Given the description of an element on the screen output the (x, y) to click on. 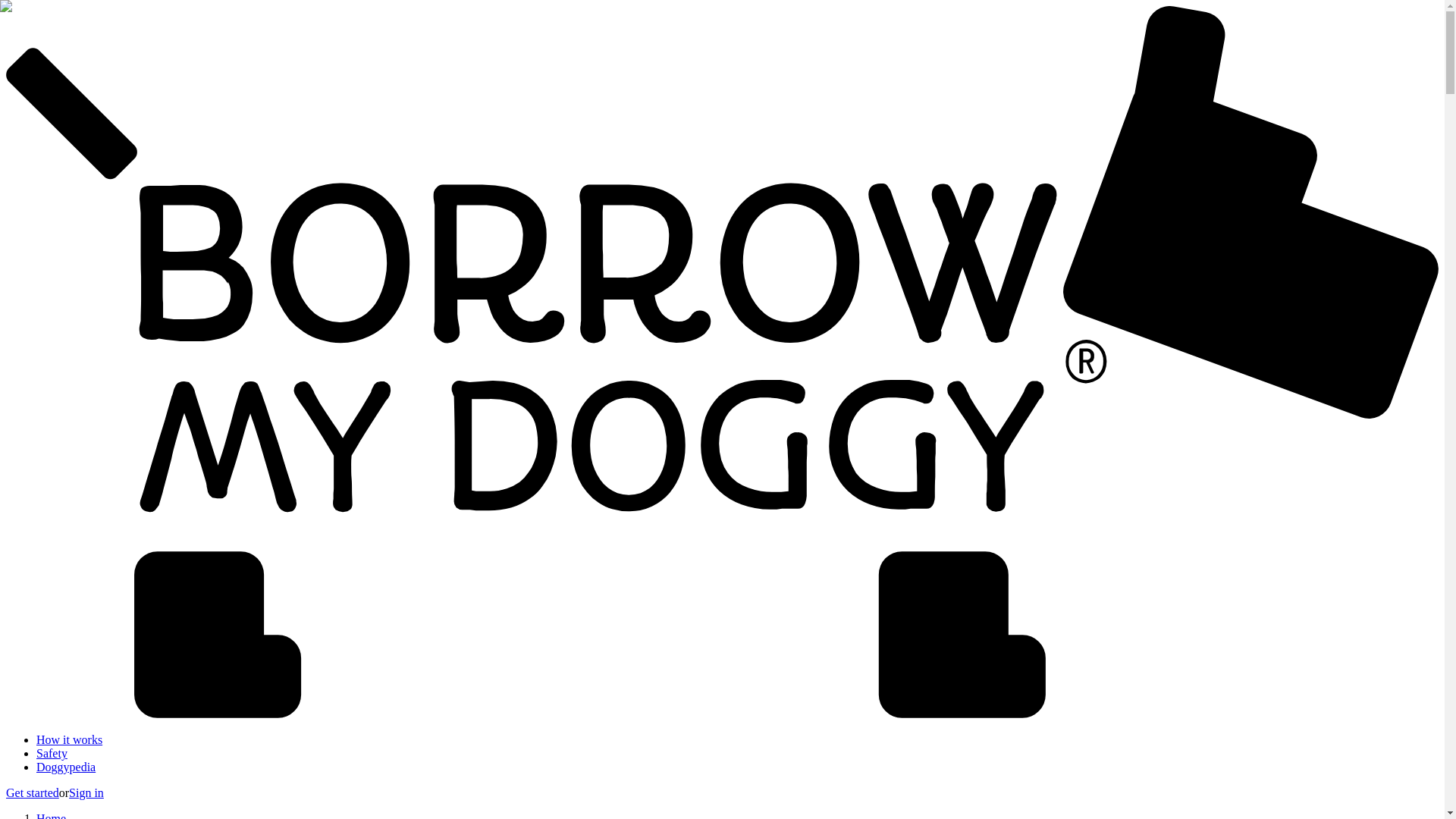
Home (50, 815)
How it works (68, 739)
Get started (32, 792)
Safety (51, 753)
Sign in (85, 792)
Doggypedia (66, 766)
